Given the description of an element on the screen output the (x, y) to click on. 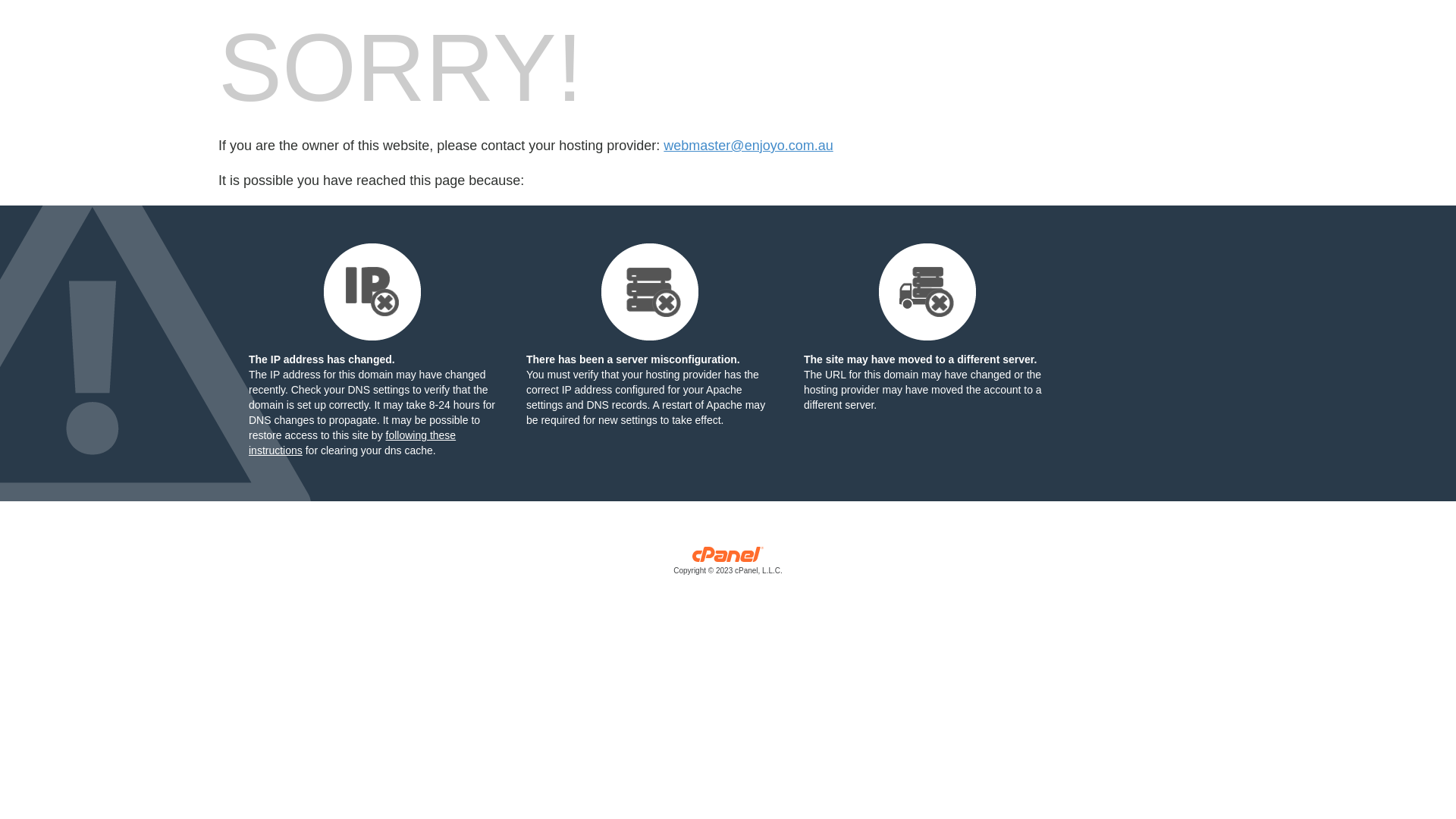
webmaster@enjoyo.com.au Element type: text (747, 145)
following these instructions Element type: text (351, 442)
